Given the description of an element on the screen output the (x, y) to click on. 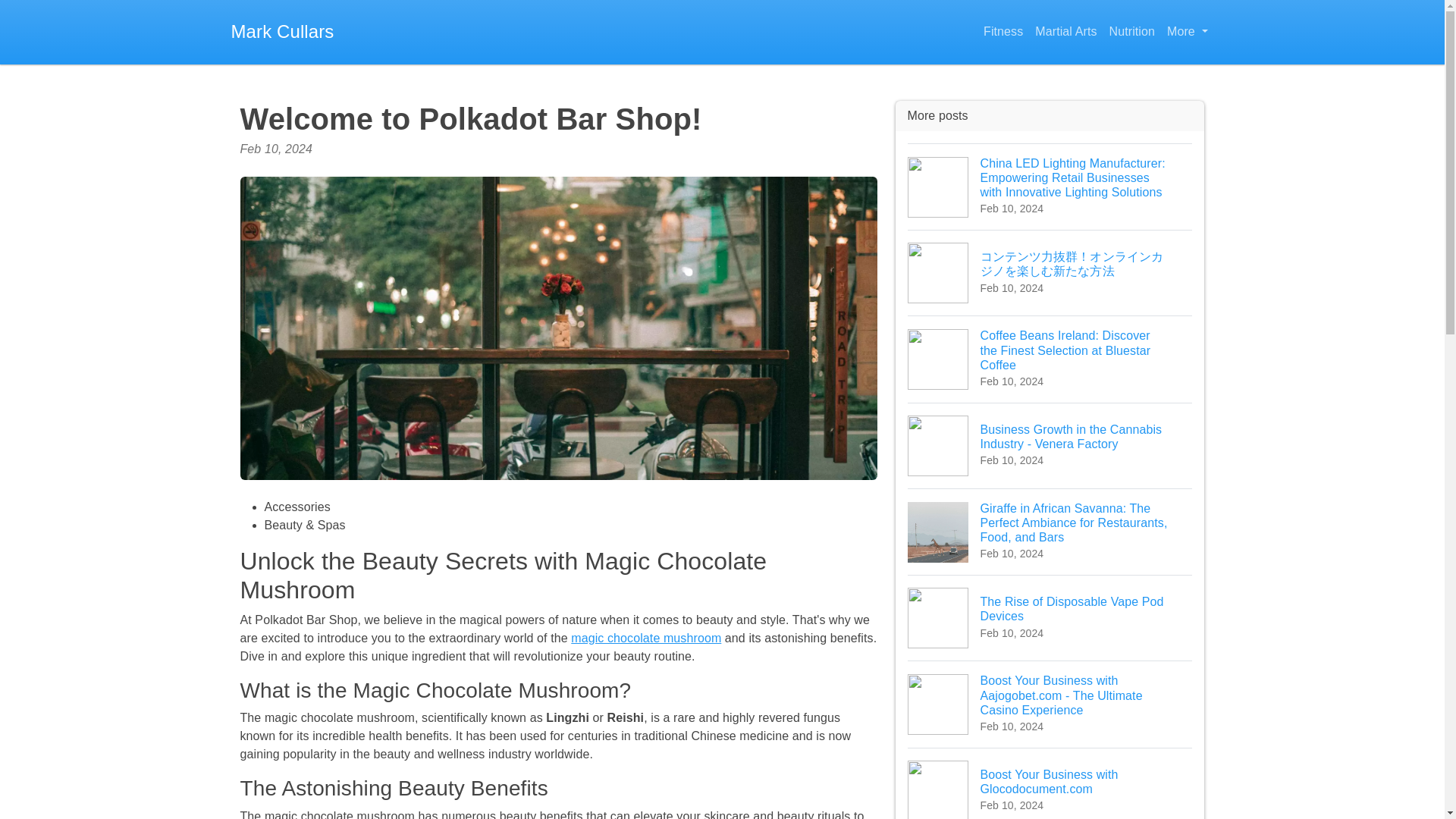
Martial Arts (1049, 617)
More (1065, 32)
Nutrition (1186, 32)
Fitness (1131, 32)
Mark Cullars (1002, 32)
magic chocolate mushroom (281, 31)
